Given the description of an element on the screen output the (x, y) to click on. 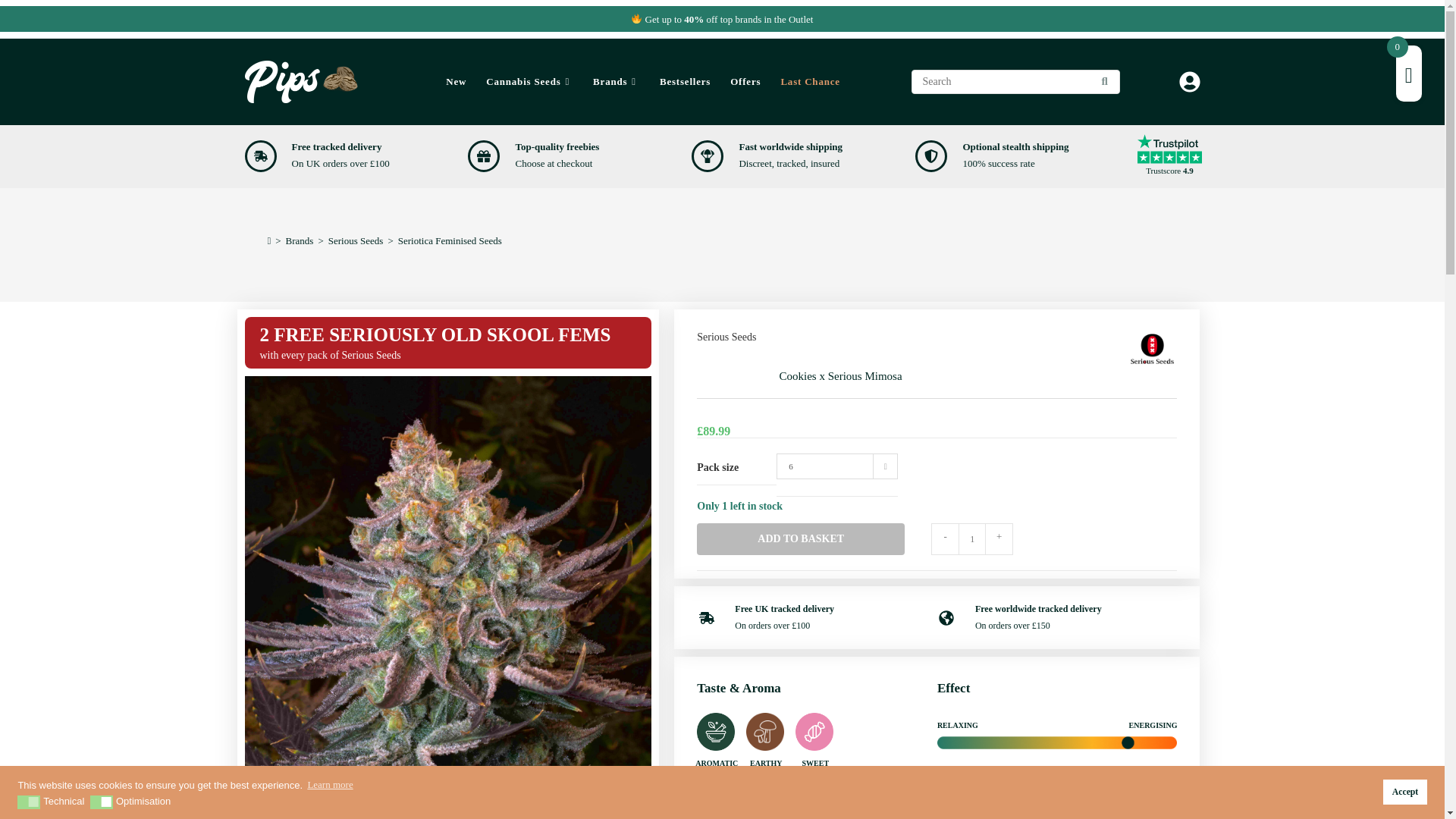
1 (971, 539)
New (465, 81)
Cannabis Seeds (539, 81)
pips-seeds-white-3 (304, 81)
